Given the description of an element on the screen output the (x, y) to click on. 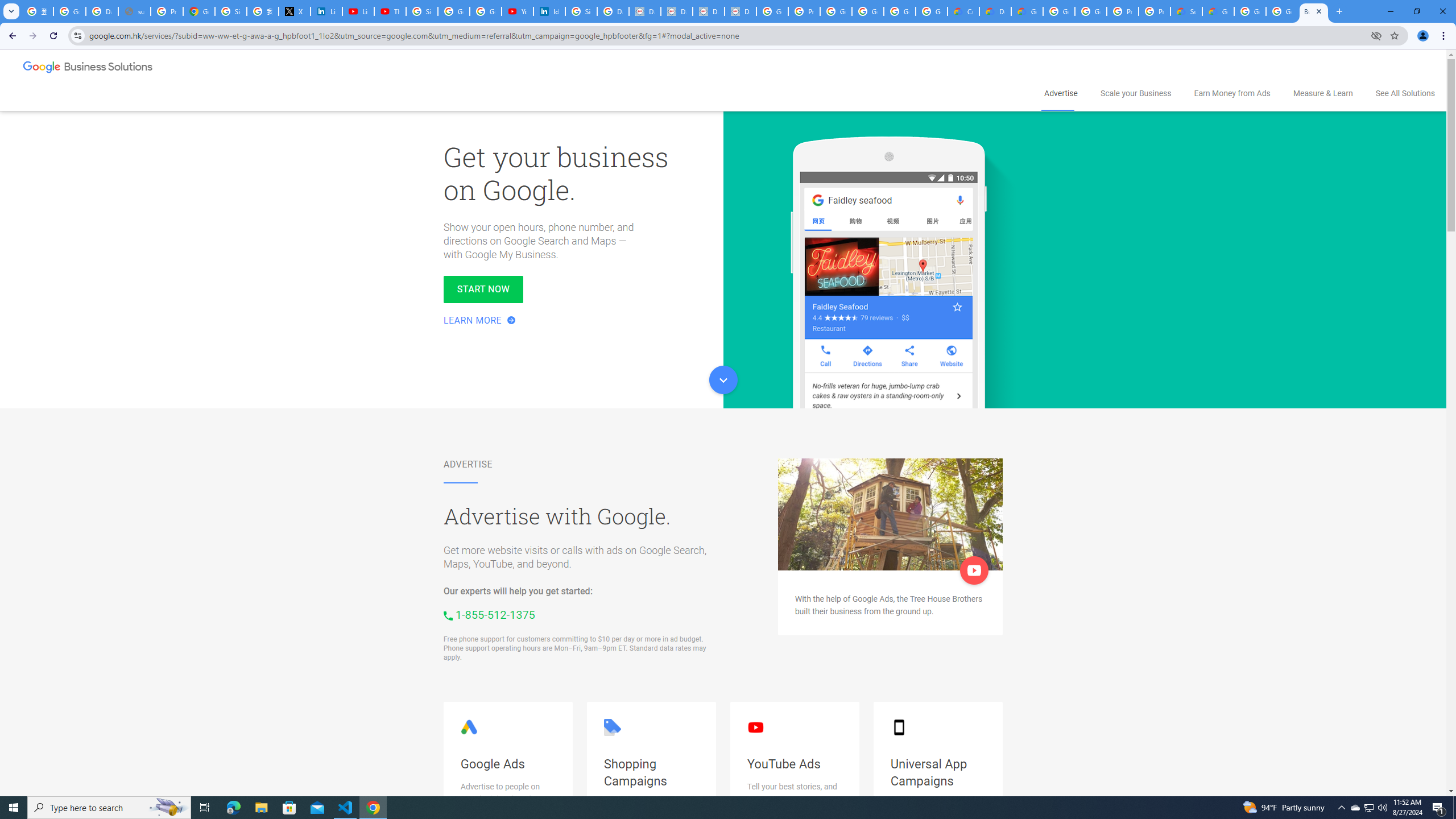
Google Ads logo (468, 727)
Data Privacy Framework (676, 11)
Play video (973, 569)
LinkedIn Privacy Policy (326, 11)
Google Cloud Platform (1091, 11)
LinkedIn - YouTube (358, 11)
Call us (488, 614)
